Given the description of an element on the screen output the (x, y) to click on. 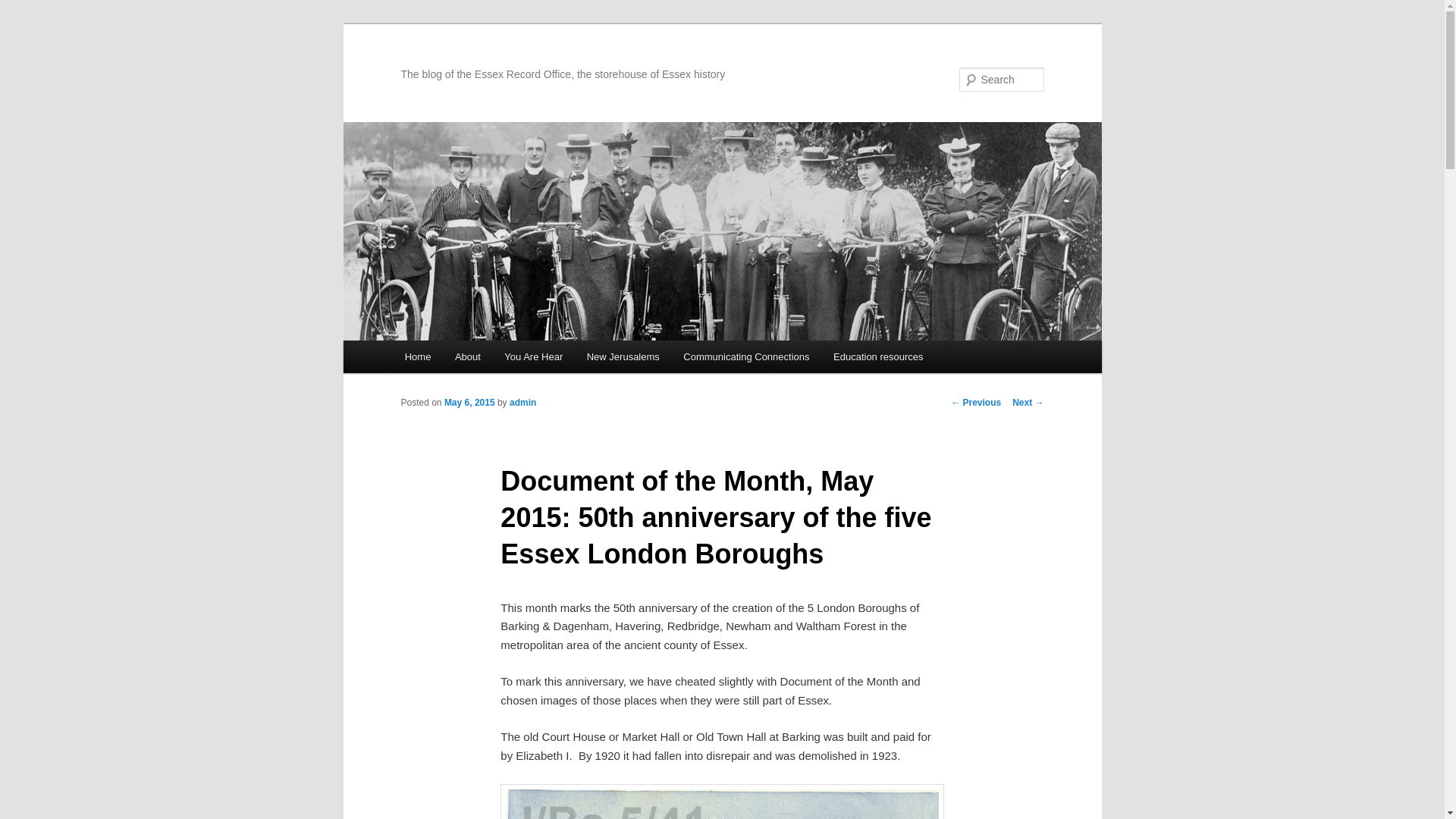
admin (522, 402)
View all posts by admin (522, 402)
May 6, 2015 (469, 402)
Communicating Connections (746, 356)
Education resources (877, 356)
Search (24, 8)
New Jerusalems (623, 356)
About (467, 356)
5:50 pm (469, 402)
You Are Hear (534, 356)
Home (417, 356)
